Given the description of an element on the screen output the (x, y) to click on. 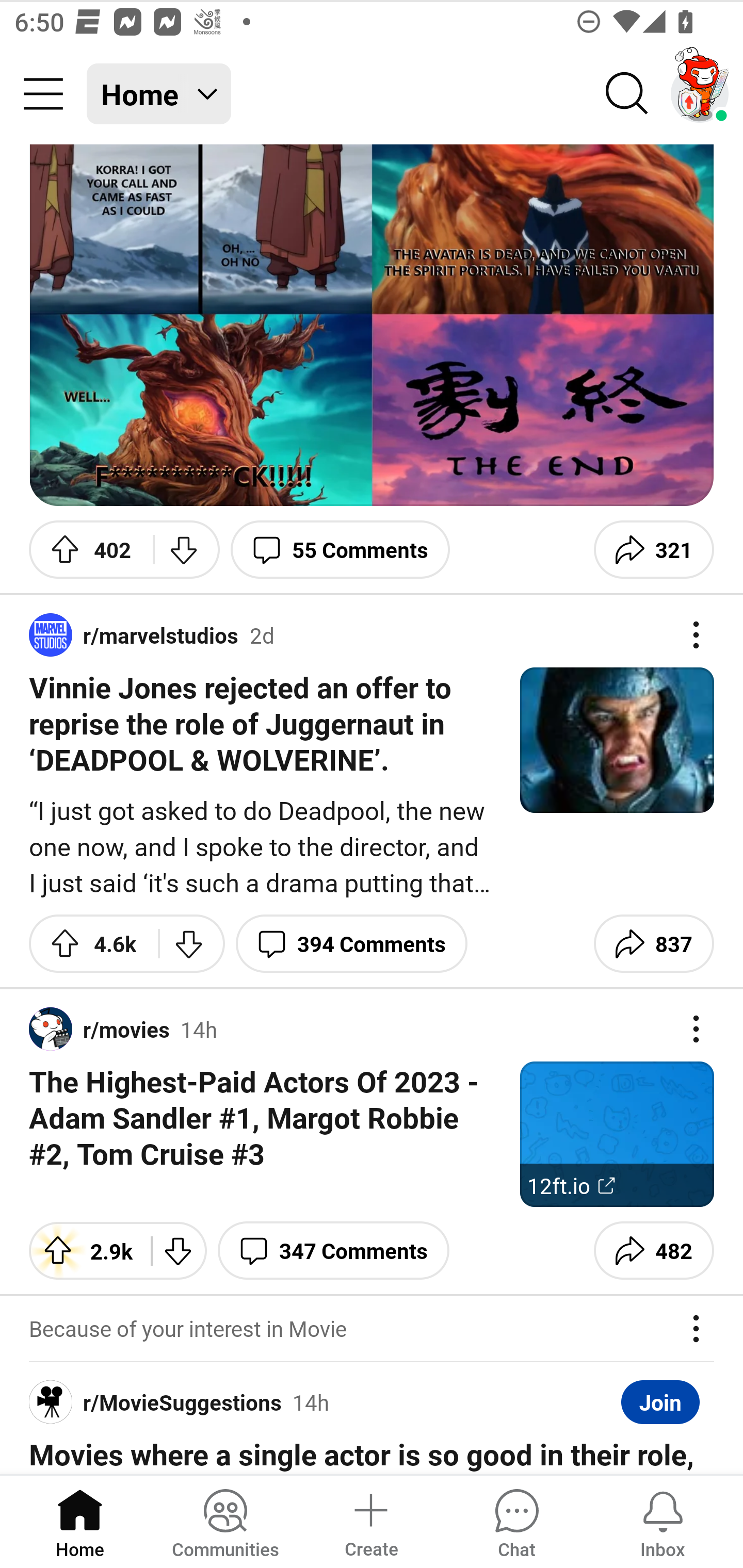
Community menu (43, 93)
Home Home feed (158, 93)
Search (626, 93)
TestAppium002 account (699, 93)
Home (80, 1520)
Communities (225, 1520)
Create a post Create (370, 1520)
Chat (516, 1520)
Inbox (662, 1520)
